Given the description of an element on the screen output the (x, y) to click on. 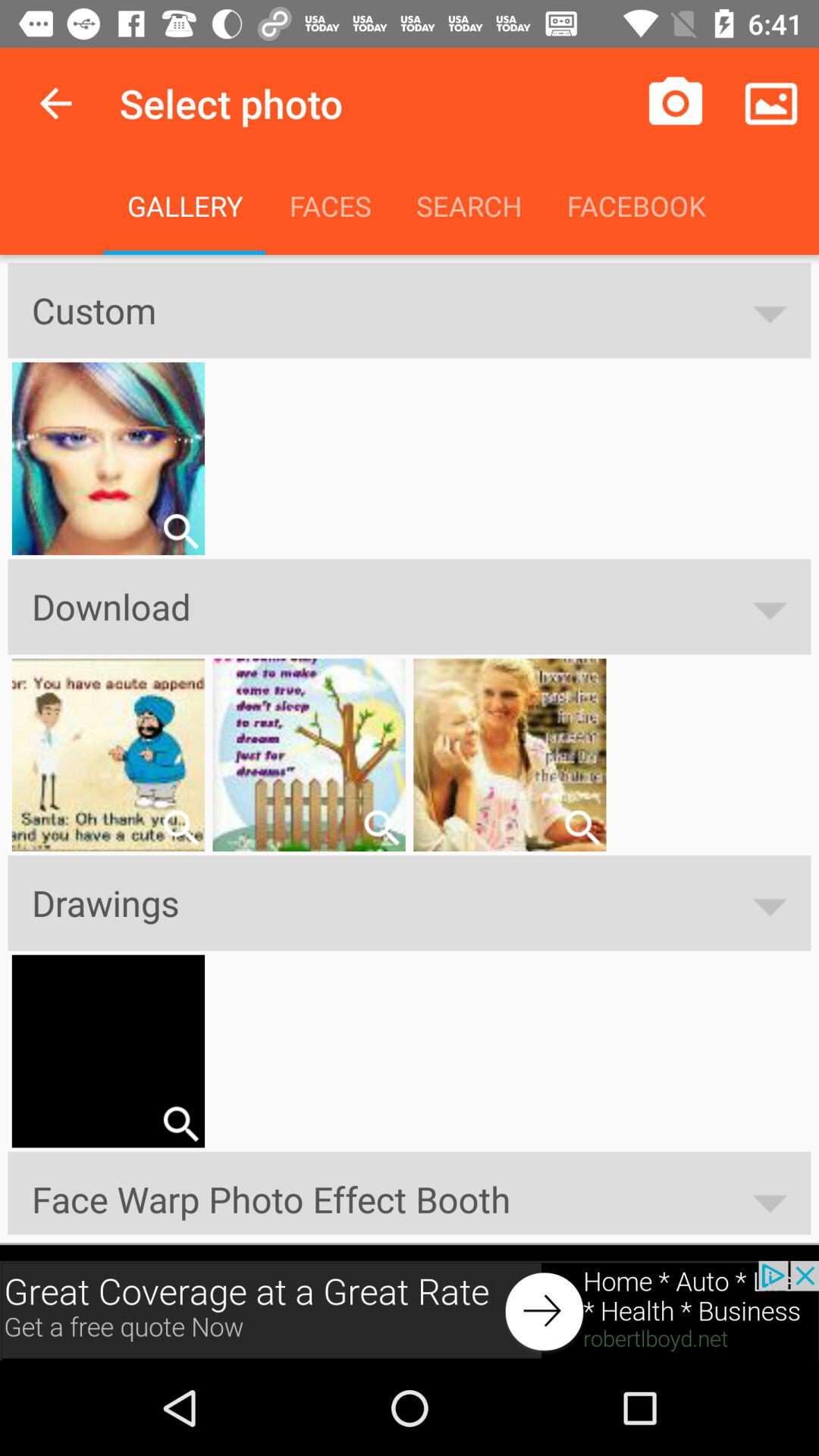
search in the option (381, 827)
